Given the description of an element on the screen output the (x, y) to click on. 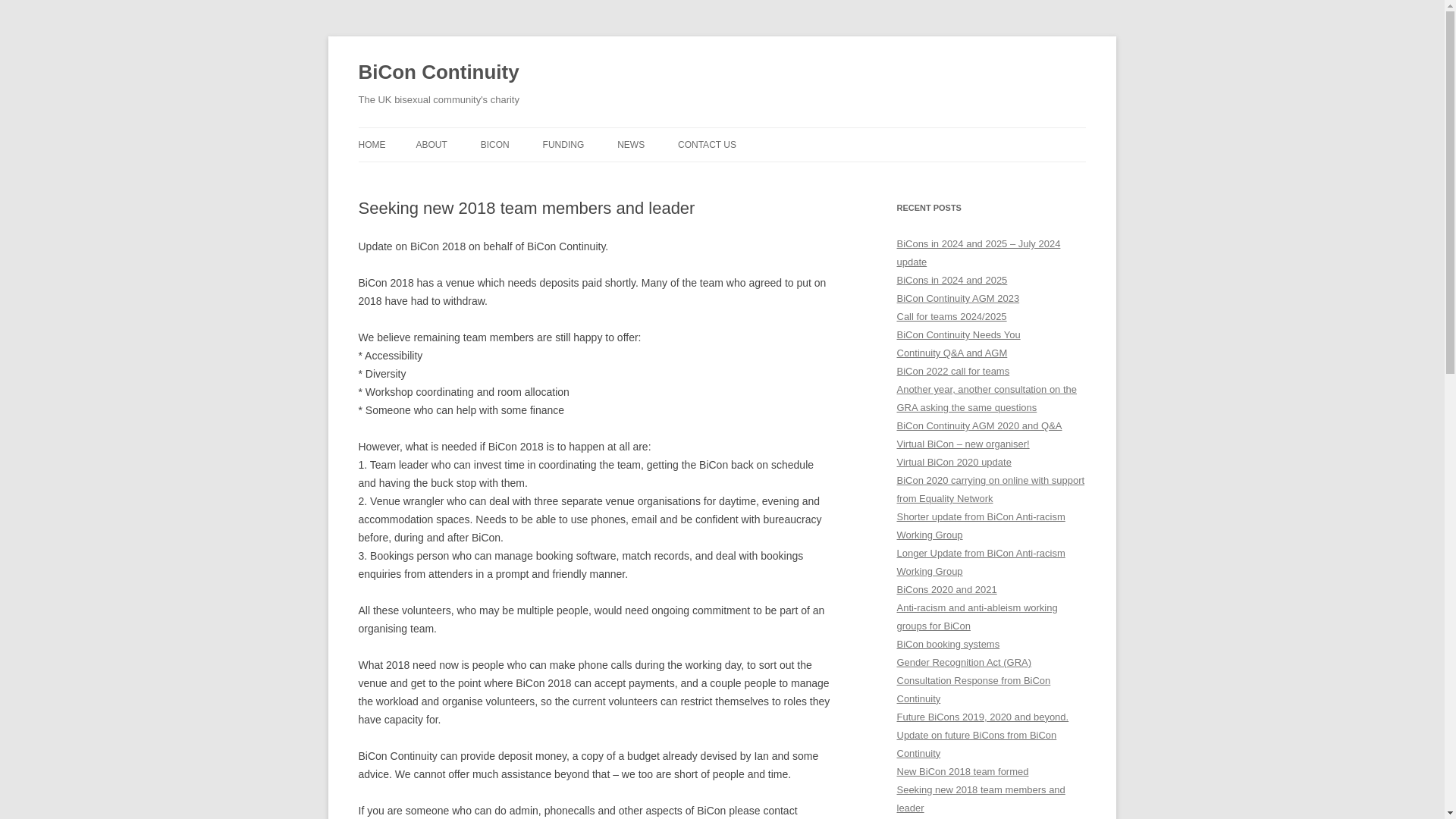
Anti-racism and anti-ableism working groups for BiCon (976, 616)
Update on future BiCons from BiCon Continuity (976, 744)
FUNDING (564, 144)
ABOUT (430, 144)
BiCon Continuity Needs You (958, 334)
BiCons in 2024 and 2025 (951, 279)
DISCUSSION (753, 176)
Future BiCons 2019, 2020 and beyond. (982, 716)
BiCon 2022 call for teams (952, 370)
Shorter update from BiCon Anti-racism Working Group (980, 525)
BiCon Continuity AGM 2023 (957, 297)
Virtual BiCon 2020 update (953, 461)
